Given the description of an element on the screen output the (x, y) to click on. 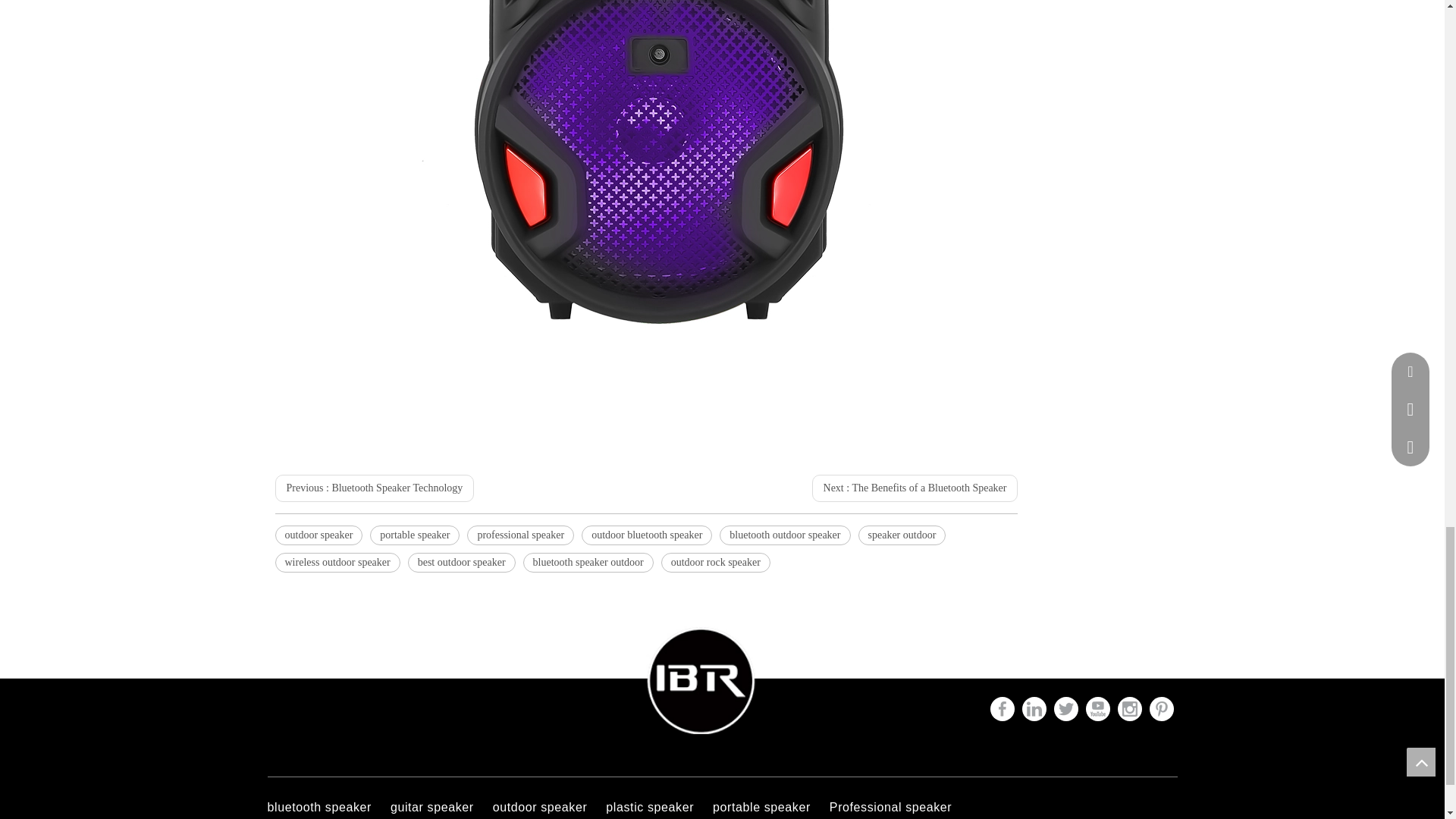
best outdoor speaker (461, 562)
speaker outdoor (902, 535)
bluetooth speaker outdoor (587, 562)
speaker outdoor (902, 535)
best outdoor speaker (461, 562)
bluetooth outdoor speaker (784, 535)
bluetooth speaker outdoor (587, 562)
wireless outdoor speaker (336, 562)
outdoor bluetooth speaker (645, 535)
bluetooth outdoor speaker (784, 535)
